Given the description of an element on the screen output the (x, y) to click on. 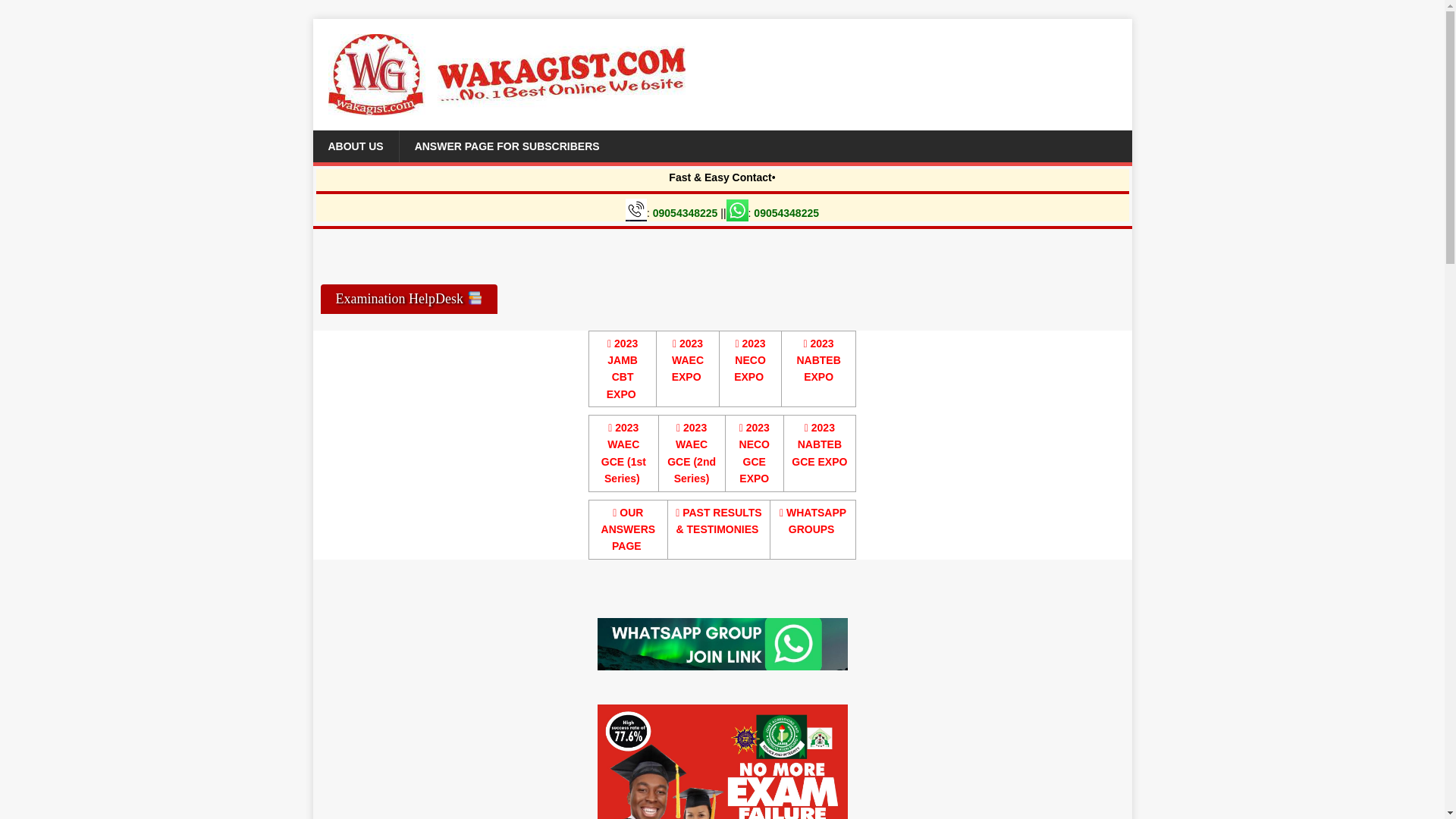
 OUR ANSWERS PAGE  (627, 529)
 2023 NABTEB EXPO (818, 359)
 2023 NABTEB GCE EXPO (819, 444)
 2023 WAEC EXPO  (687, 359)
ABOUT US (355, 146)
ANSWER PAGE FOR SUBSCRIBERS (506, 146)
 WHATSAPP GROUPS  (812, 521)
wakagist (721, 761)
wakagist (721, 644)
All Examinations Whatsapp Groups By ExamWap - Wakagist.com (812, 521)
 2023 NECO EXPO  (749, 359)
